Given the description of an element on the screen output the (x, y) to click on. 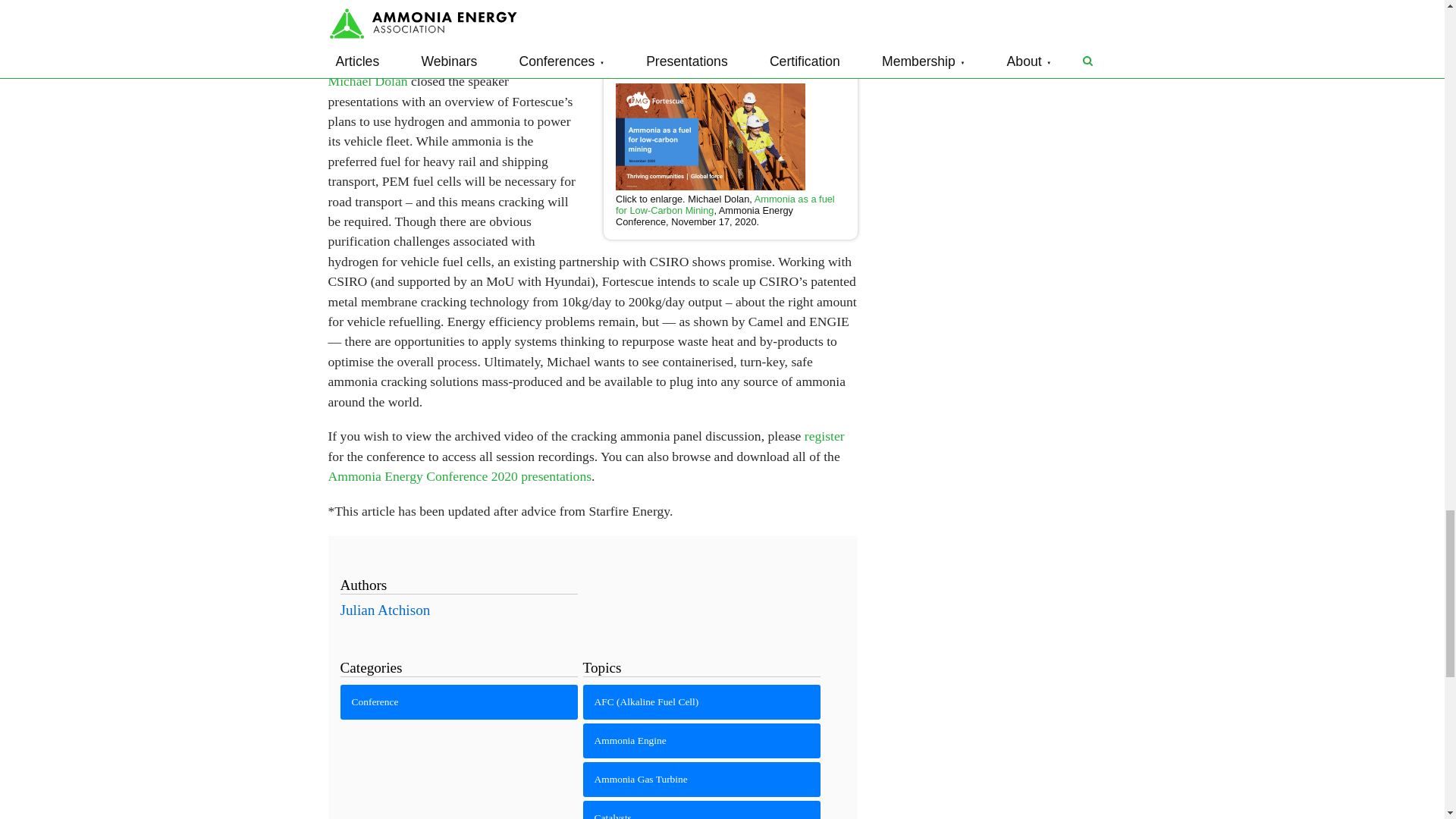
See other items in Ammonia Gas Turbine Topics (702, 779)
See other items in Catalysts Topics (702, 809)
See other items in Conference Categories (457, 701)
See other items in Ammonia Engine Topics (702, 740)
